Given the description of an element on the screen output the (x, y) to click on. 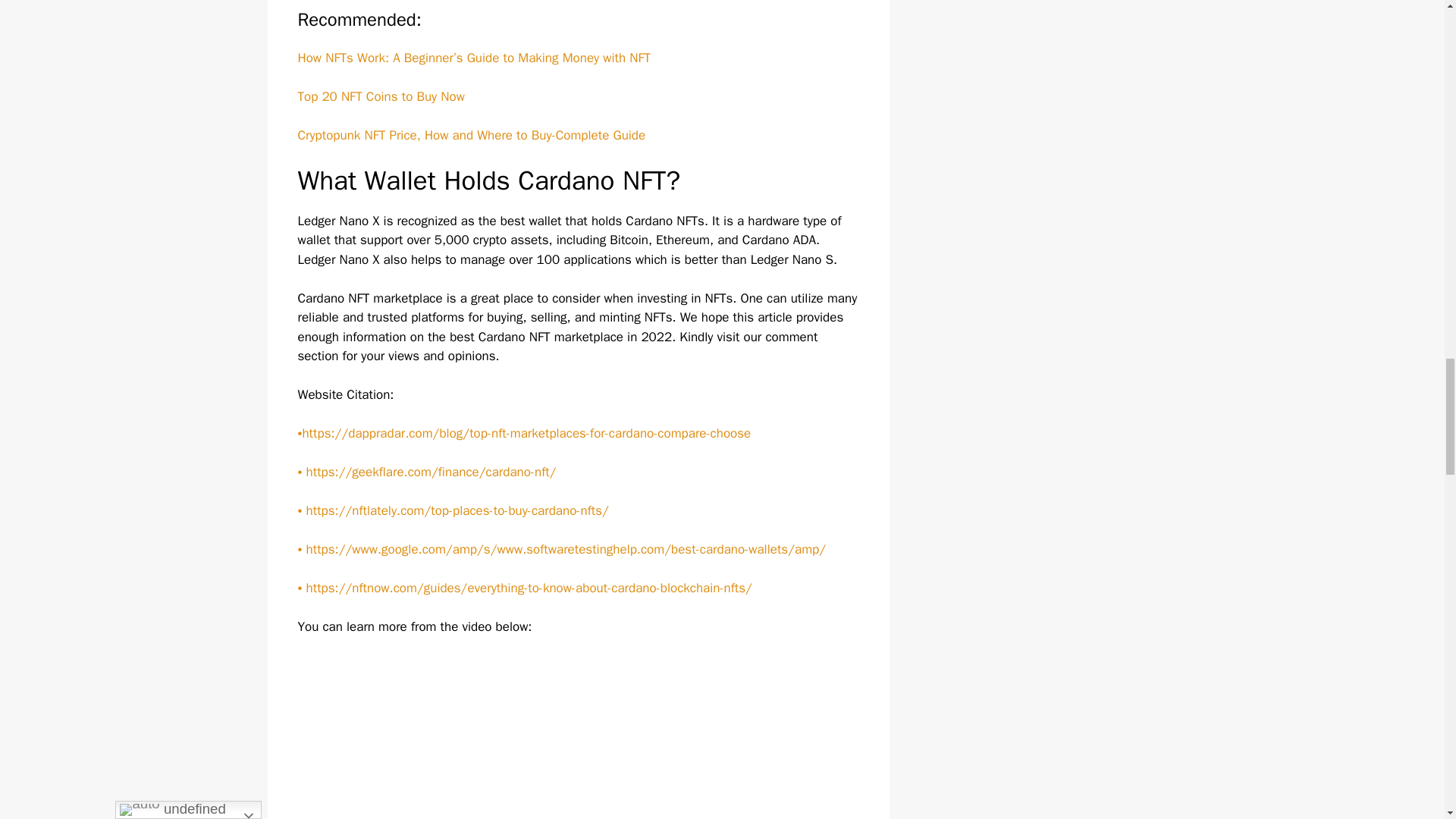
Top 20 NFT Coins to Buy Now (380, 96)
Cryptopunk NFT Price, How and Where to Buy-Complete Guide (471, 135)
